Given the description of an element on the screen output the (x, y) to click on. 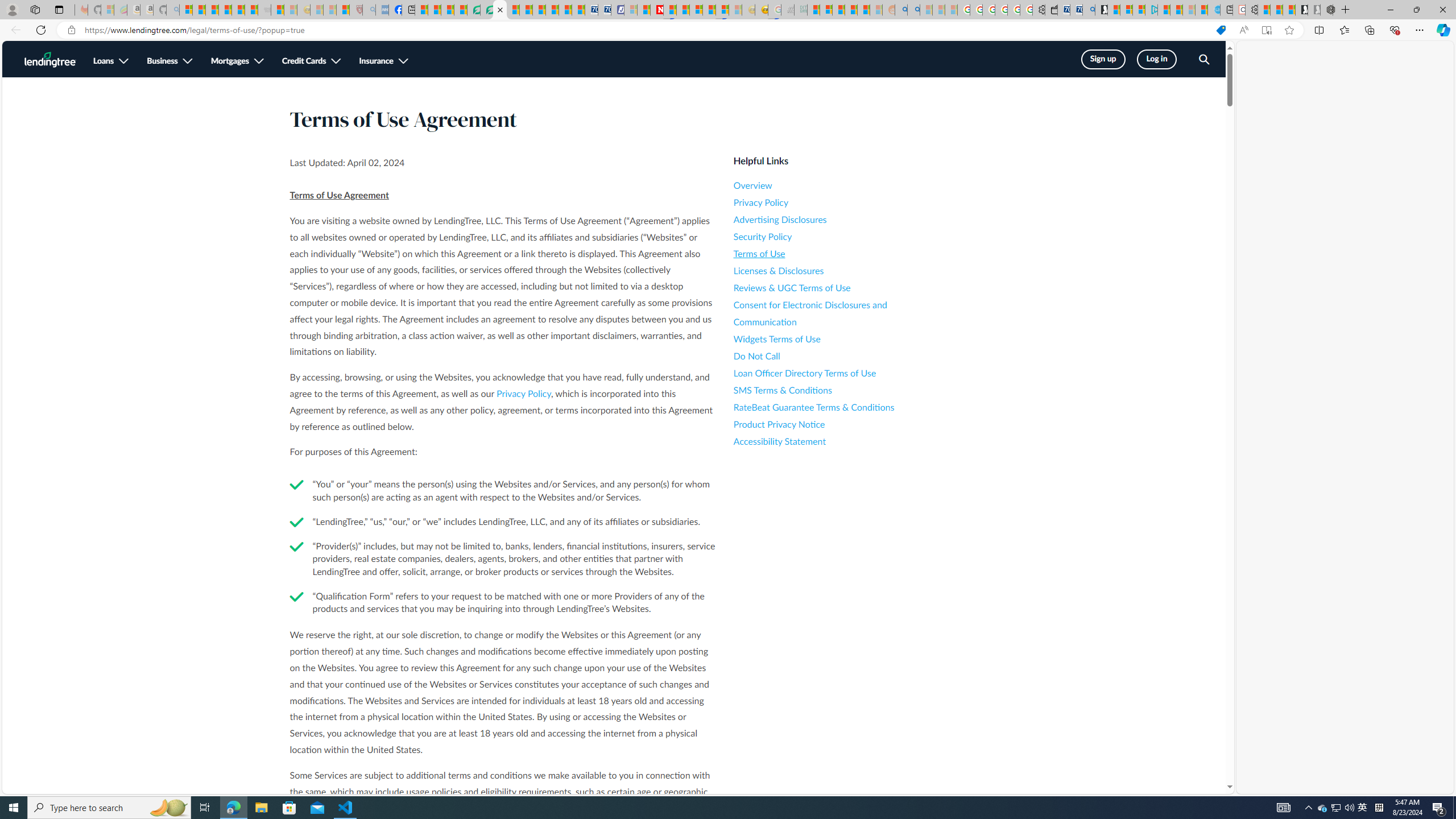
RateBeat Guarantee Terms & Conditions (836, 407)
LendingTree Homepage Logo (50, 59)
Cheap Car Rentals - Save70.com (1076, 9)
Sign up (1102, 58)
